Given the description of an element on the screen output the (x, y) to click on. 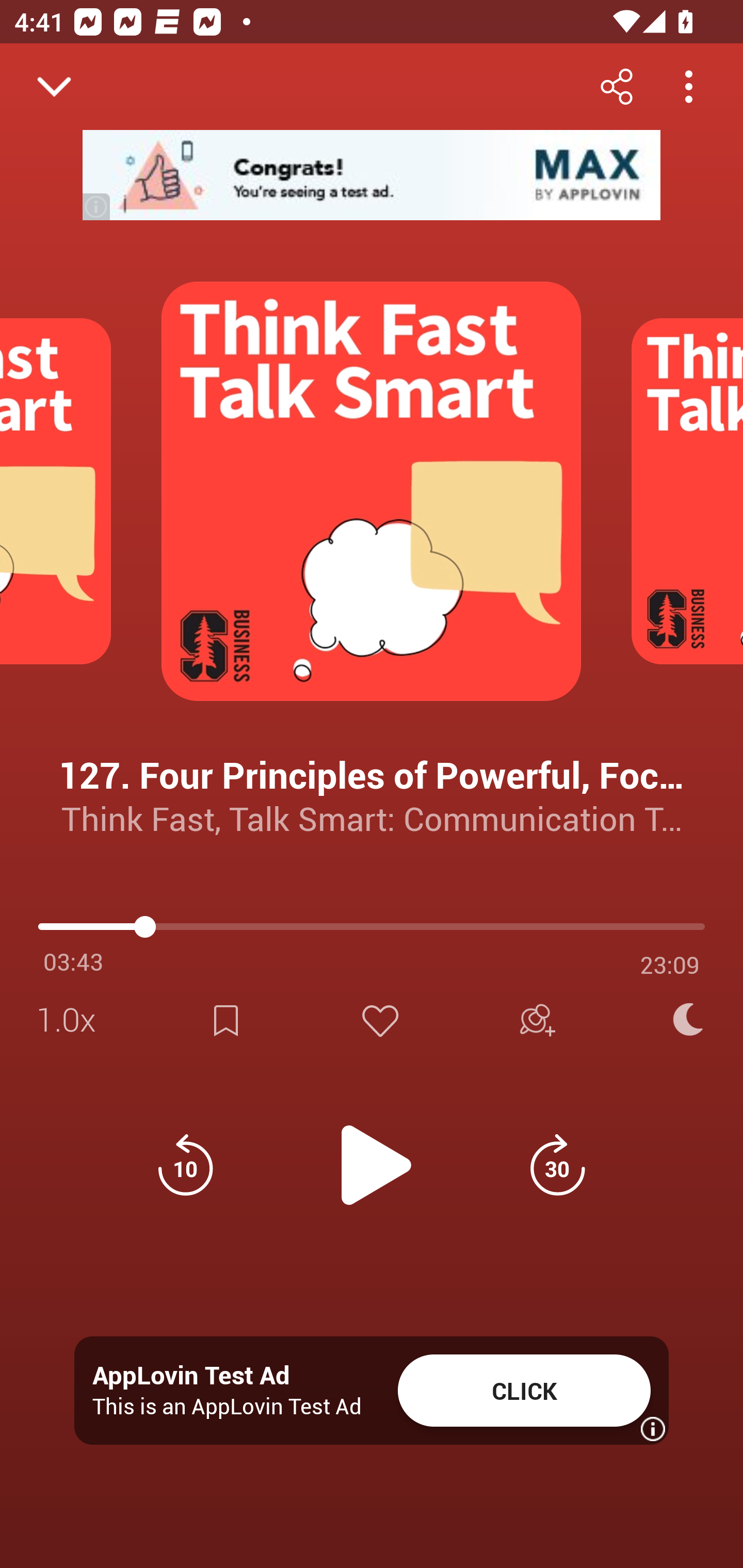
Close fullscreen player (54, 86)
Share (616, 86)
More options (688, 86)
app-monetization (371, 175)
 Error 0 (562, 184)
(i) (96, 206)
Think Fast, Talk Smart: Communication Techniques (371, 818)
Open series The Fighter & The Kid (93, 994)
23:09 (669, 964)
1.0x Speed (72, 1020)
Like (380, 1020)
Play button (371, 1153)
Jump back (185, 1164)
Jump forward (557, 1164)
CLICK (523, 1390)
AppLovin Test Ad (191, 1375)
This is an AppLovin Test Ad (226, 1406)
